Given the description of an element on the screen output the (x, y) to click on. 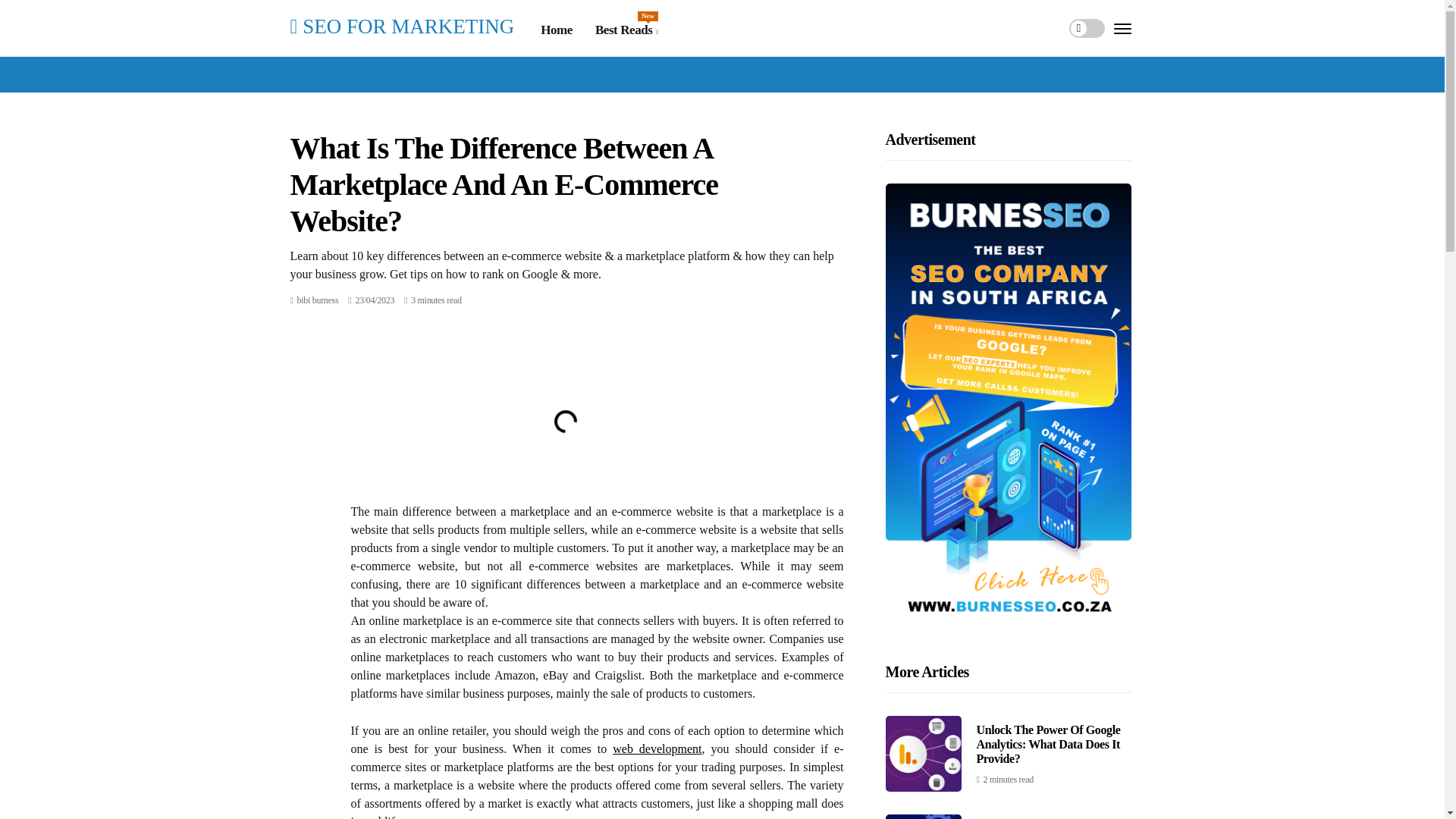
bibi burness (318, 299)
Posts by bibi burness (318, 299)
web development (626, 30)
SEO FOR MARKETING (656, 748)
